Given the description of an element on the screen output the (x, y) to click on. 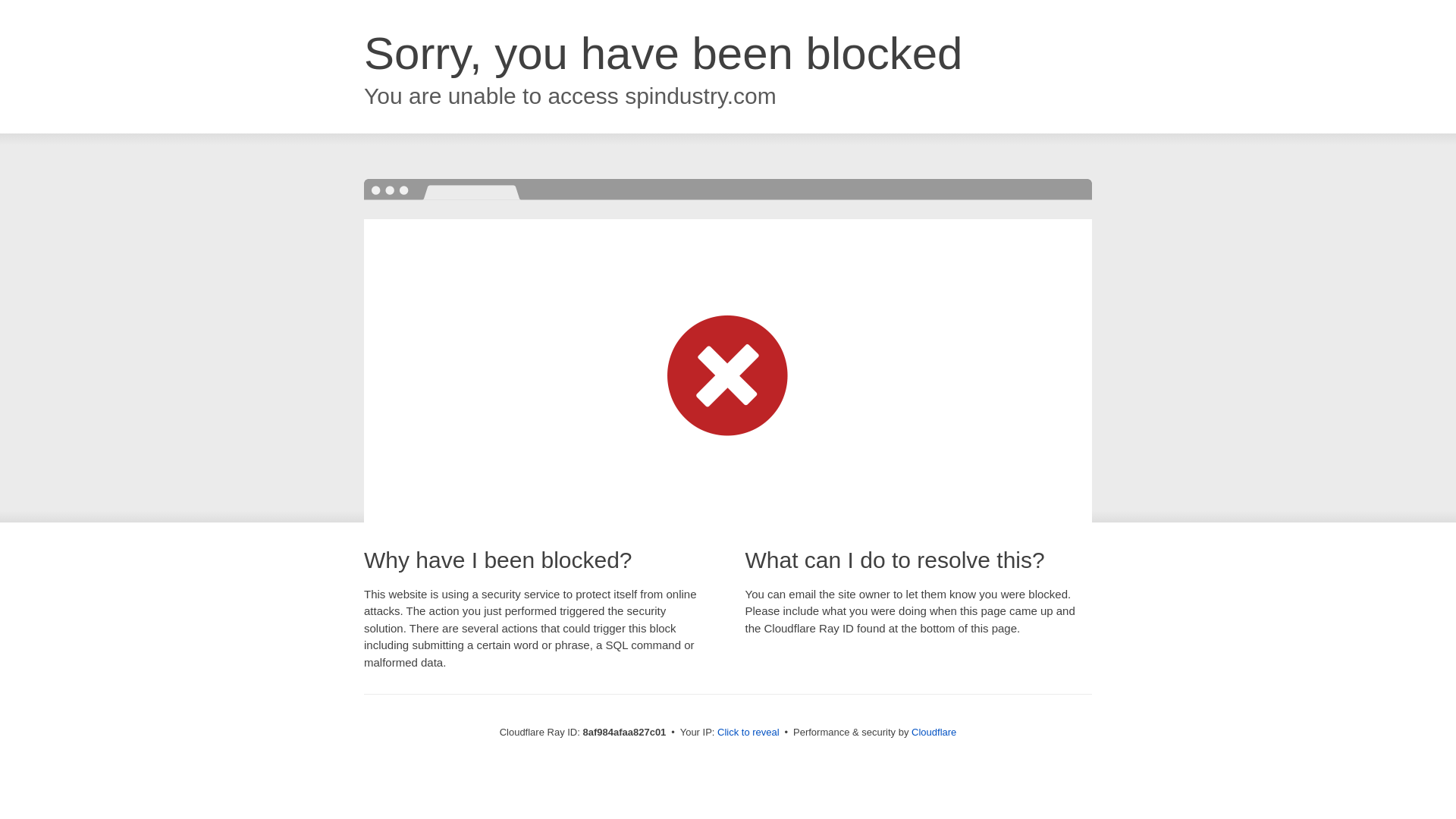
Click to reveal (747, 732)
Cloudflare (933, 731)
